Given the description of an element on the screen output the (x, y) to click on. 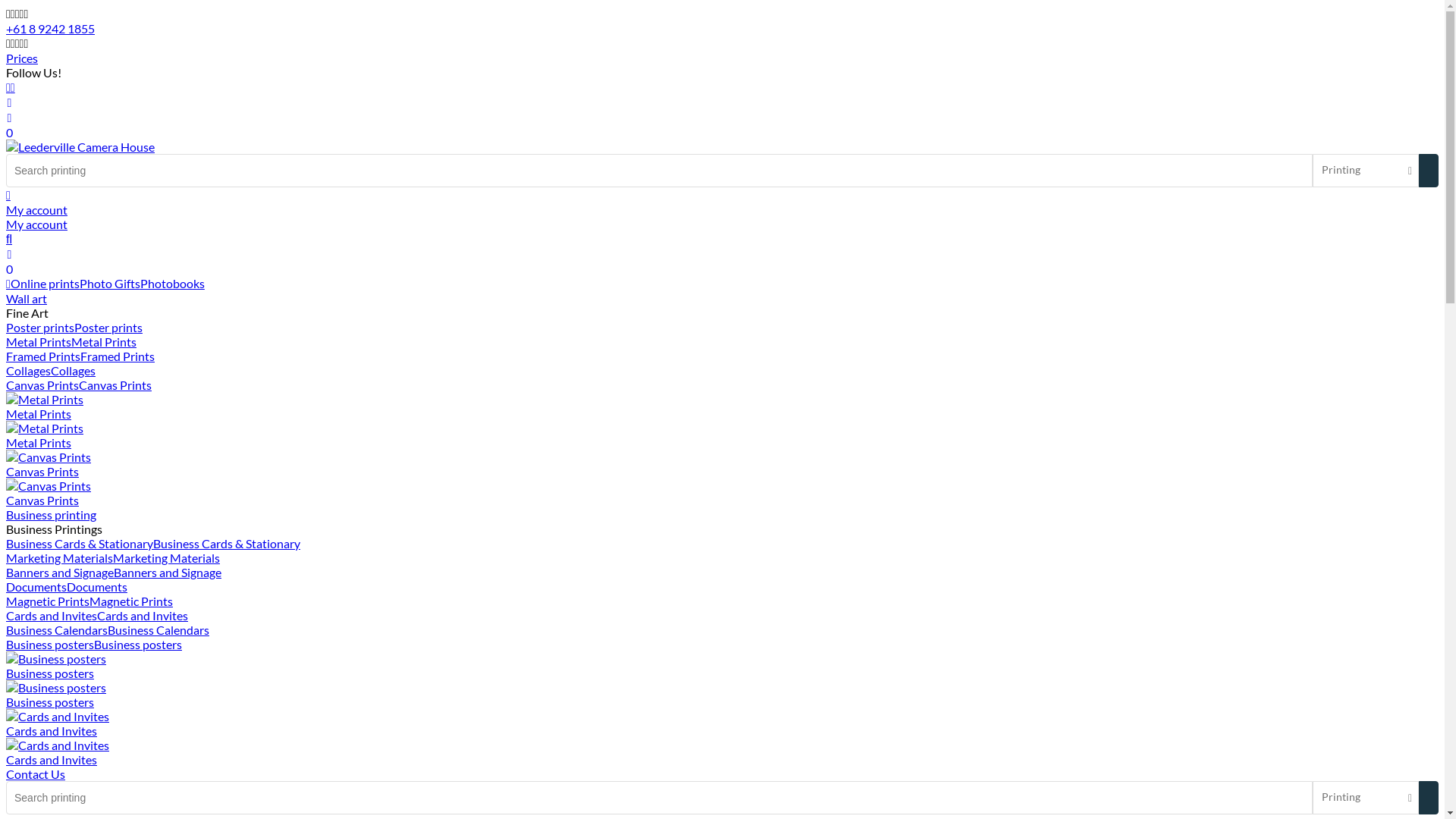
Poster prints Element type: text (40, 327)
Cards and Invites Element type: text (142, 615)
Metal Prints Element type: text (722, 434)
Magnetic Prints Element type: text (47, 600)
Contact Us Element type: text (35, 773)
Cards and Invites Element type: text (51, 615)
Canvas Prints Element type: text (42, 384)
Prices Element type: text (21, 57)
Collages Element type: text (28, 370)
Documents Element type: text (96, 586)
Magnetic Prints Element type: text (130, 600)
Business Cards & Stationary Element type: text (226, 543)
Canvas Prints Element type: text (722, 492)
Metal Prints Element type: text (38, 341)
Business posters Element type: text (722, 665)
Metal Prints Element type: text (103, 341)
Cards and Invites Element type: text (722, 751)
Business Cards & Stationary Element type: text (79, 543)
Marketing Materials Element type: text (165, 557)
Banners and Signage Element type: text (59, 571)
Business posters Element type: text (50, 644)
Online prints Element type: text (44, 283)
Banners and Signage Element type: text (167, 571)
+61 8 9242 1855 Element type: text (50, 28)
Business Calendars Element type: text (158, 629)
Business posters Element type: text (138, 644)
Canvas Prints Element type: text (114, 384)
Marketing Materials Element type: text (59, 557)
Photobooks Element type: text (172, 283)
Metal Prints Element type: text (722, 406)
Canvas Prints Element type: text (722, 463)
Framed Prints Element type: text (117, 355)
Cards and Invites Element type: text (722, 723)
Business Calendars Element type: text (56, 629)
Business posters Element type: text (722, 694)
Documents Element type: text (36, 586)
Collages Element type: text (72, 370)
Framed Prints Element type: text (43, 355)
Wall art Element type: text (722, 298)
Photo Gifts Element type: text (109, 283)
Poster prints Element type: text (108, 327)
Business printing Element type: text (722, 514)
